Given the description of an element on the screen output the (x, y) to click on. 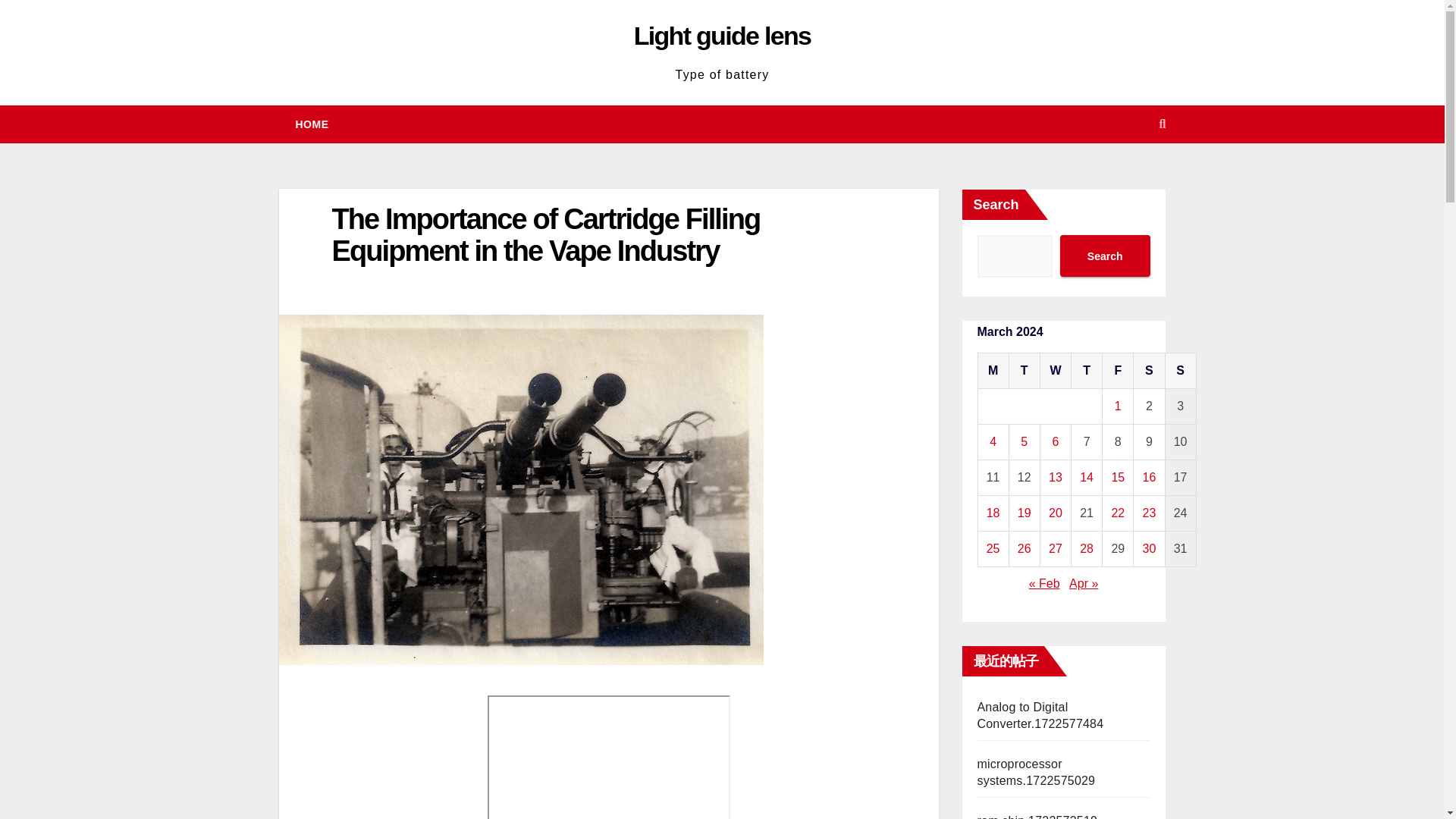
Light guide lens (721, 35)
13 (1055, 477)
HOME (312, 124)
Home (312, 124)
Search (1104, 255)
